Given the description of an element on the screen output the (x, y) to click on. 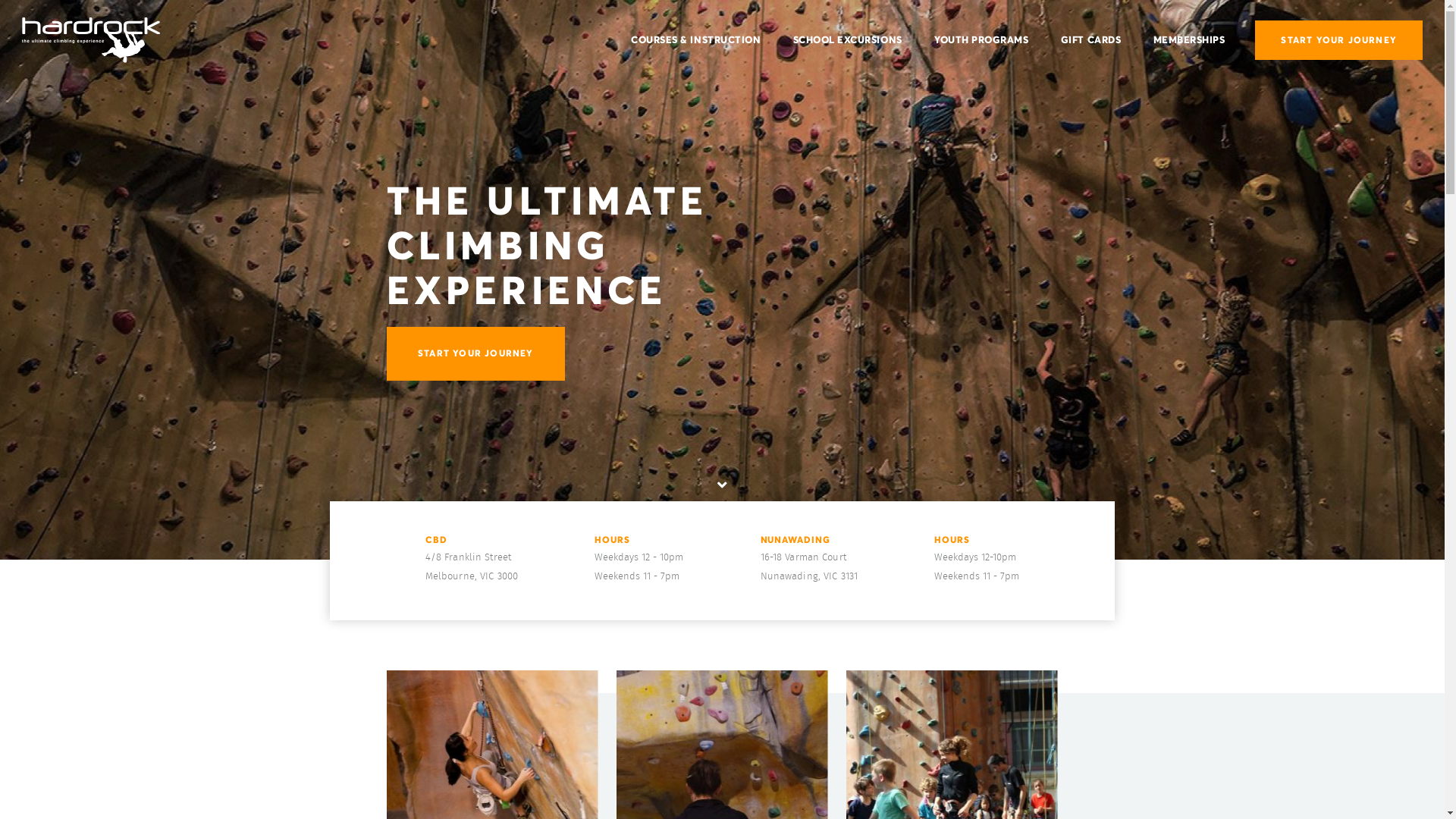
MEMBERSHIPS Element type: text (1189, 40)
START YOUR JOURNEY Element type: text (1338, 39)
YOUTH PROGRAMS Element type: text (981, 40)
START YOUR JOURNEY Element type: text (475, 352)
GIFT CARDS Element type: text (1090, 40)
COURSES & INSTRUCTION Element type: text (695, 40)
SCHOOL EXCURSIONS Element type: text (847, 40)
